Given the description of an element on the screen output the (x, y) to click on. 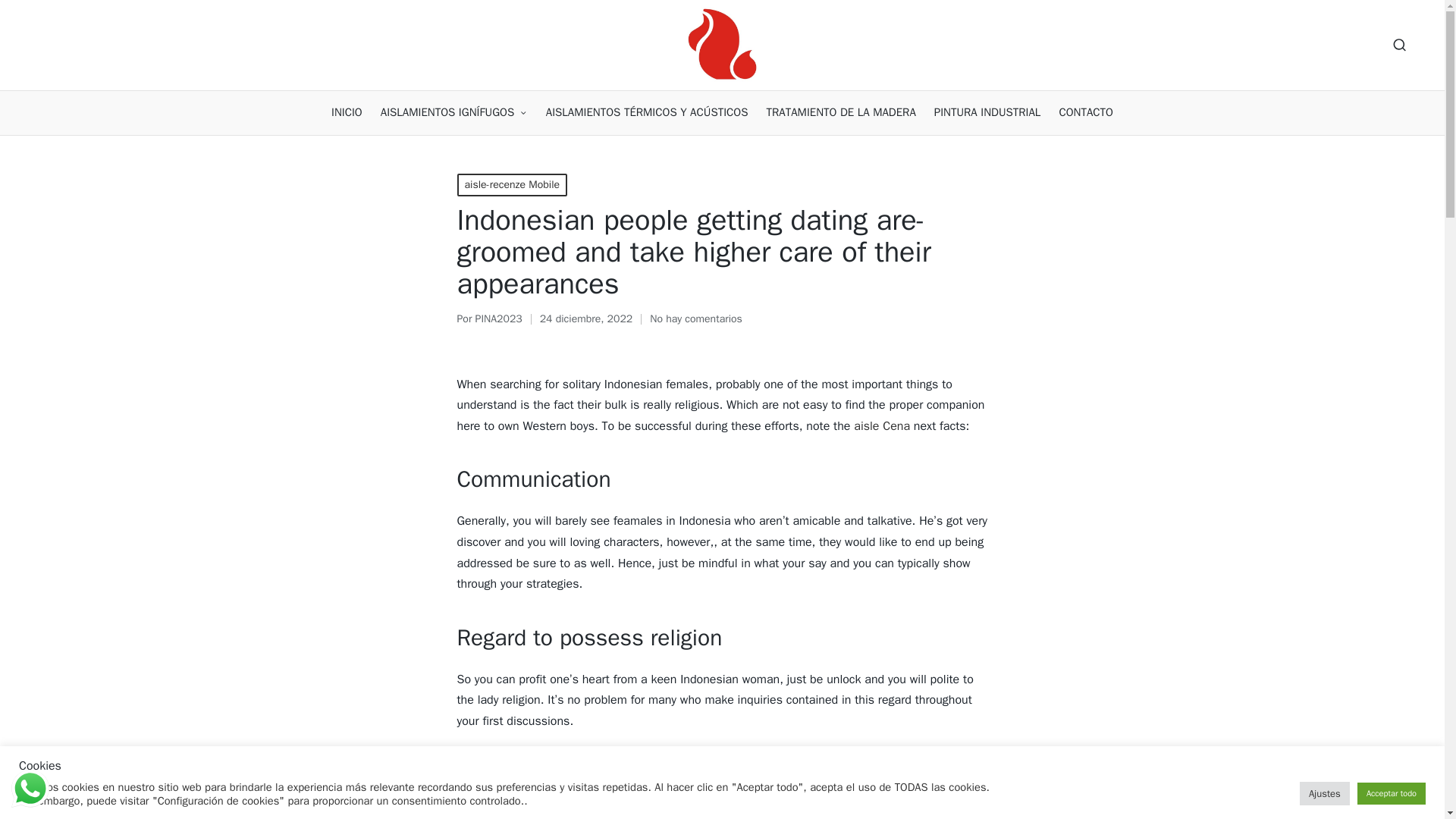
CONTACTO (1085, 112)
Ver todas las entradas de PINA2023 (499, 318)
aisle-recenze Mobile (512, 184)
aisle Cena (881, 426)
Ajustes (1324, 793)
Acceptar todo (1390, 793)
PINTURA INDUSTRIAL (987, 112)
TRATAMIENTO DE LA MADERA (841, 112)
No hay comentarios (695, 319)
PINA2023 (499, 318)
